Given the description of an element on the screen output the (x, y) to click on. 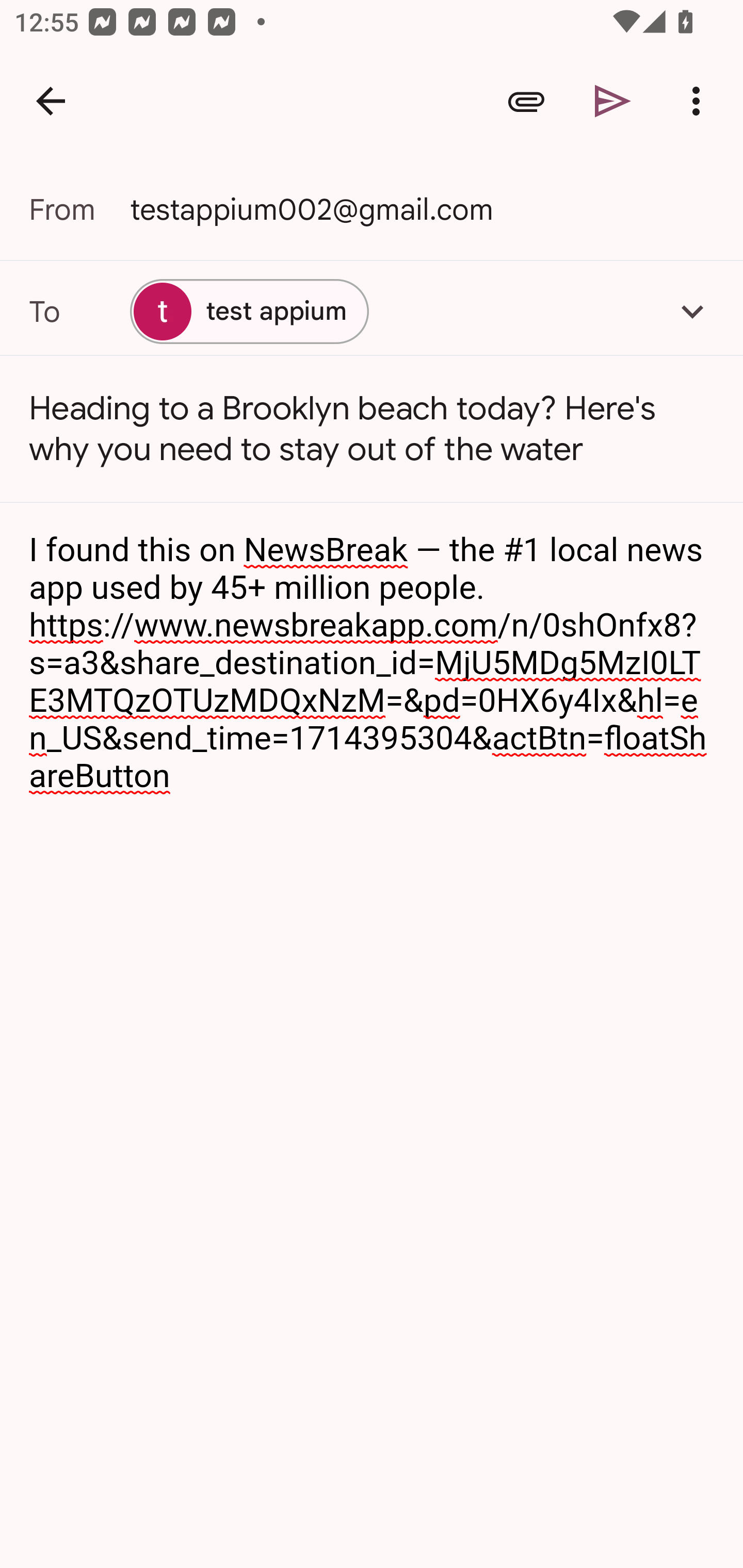
Navigate up (50, 101)
Attach file (525, 101)
Send (612, 101)
More options (699, 101)
From (79, 209)
Add Cc/Bcc (692, 311)
test appium test appium, testappium002@gmail.com (371, 311)
test appium test appium, testappium002@gmail.com (249, 311)
